Given the description of an element on the screen output the (x, y) to click on. 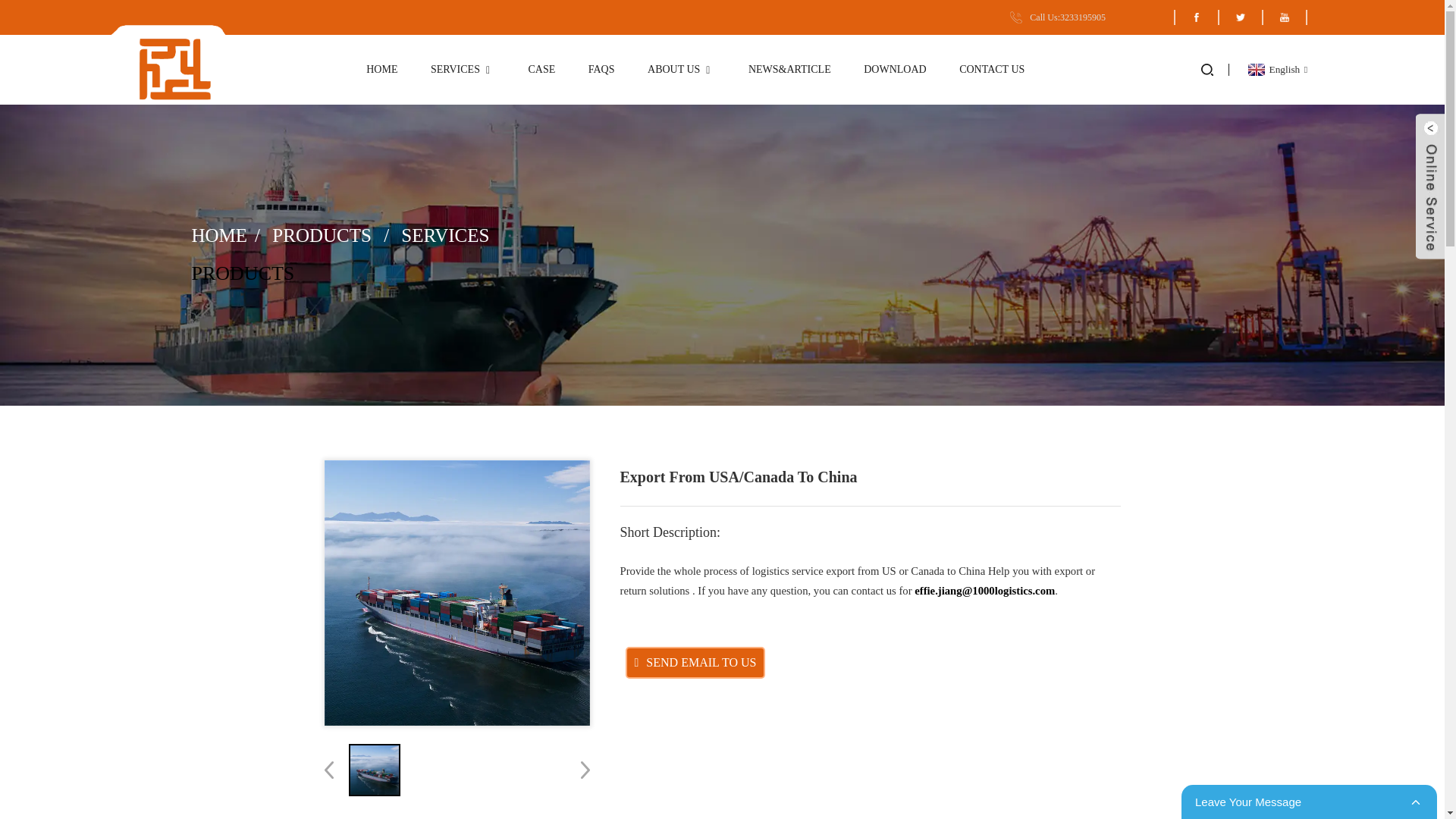
ABOUT US (680, 69)
CASE (540, 69)
English (1275, 69)
SERVICES (462, 69)
CONTACT US (992, 69)
Call Us:3233195905 (1057, 17)
HOME (381, 69)
DOWNLOAD (894, 69)
